Given the description of an element on the screen output the (x, y) to click on. 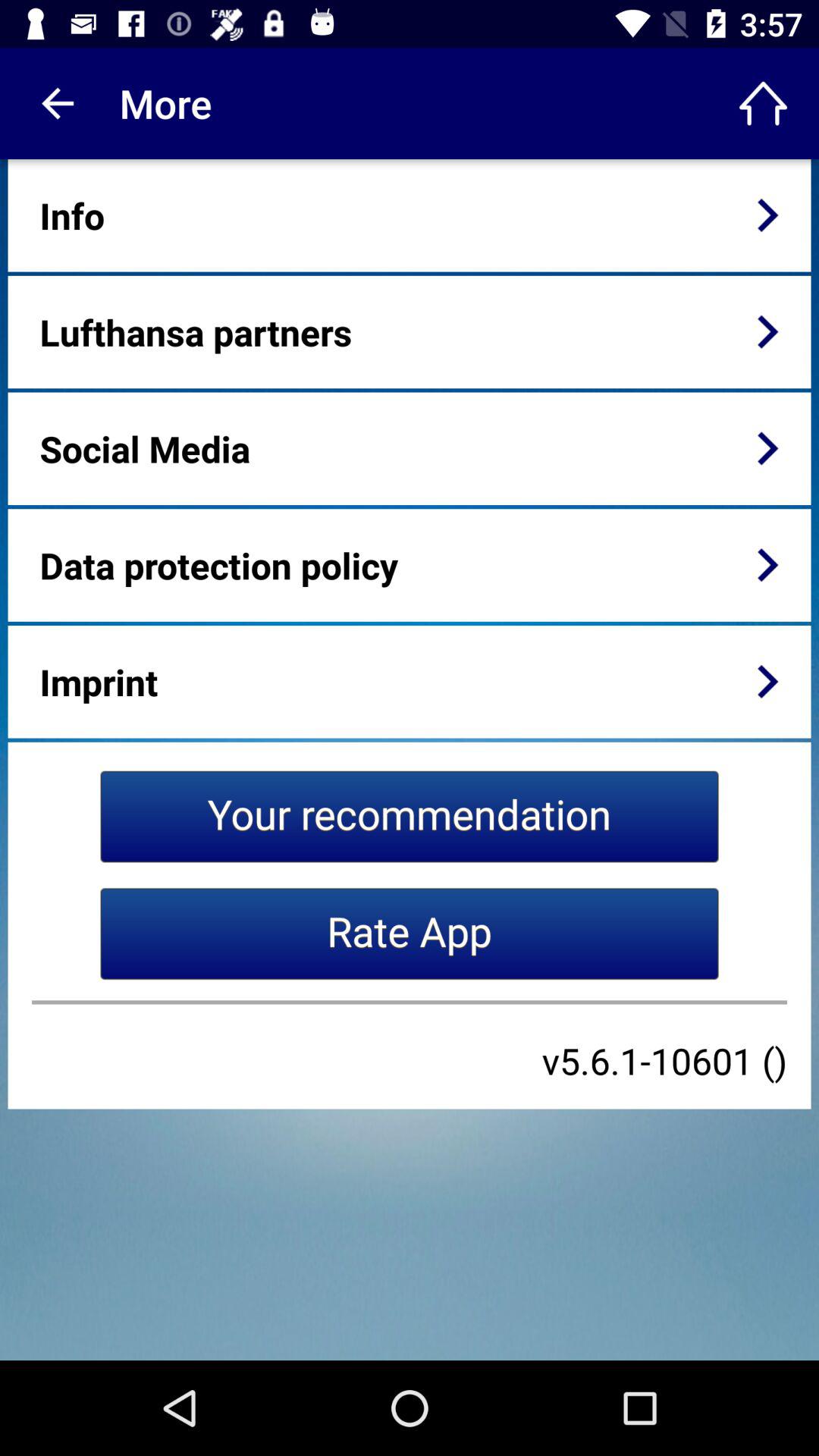
press icon next to the more app (763, 103)
